Given the description of an element on the screen output the (x, y) to click on. 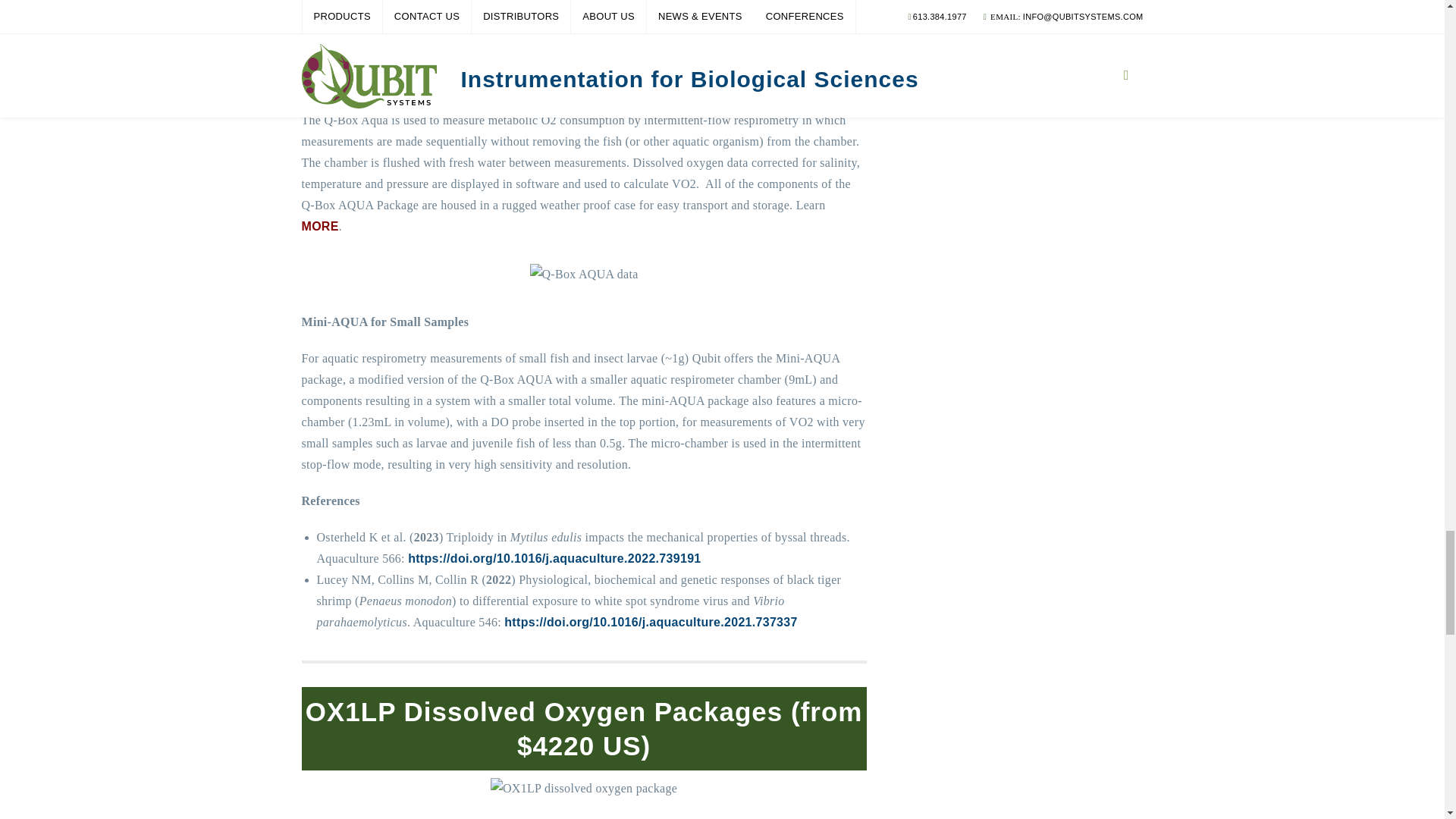
Aquatic respirometry (583, 72)
OX1LP (583, 788)
MORE (320, 226)
Q-Box-AQUA-data (584, 274)
